Given the description of an element on the screen output the (x, y) to click on. 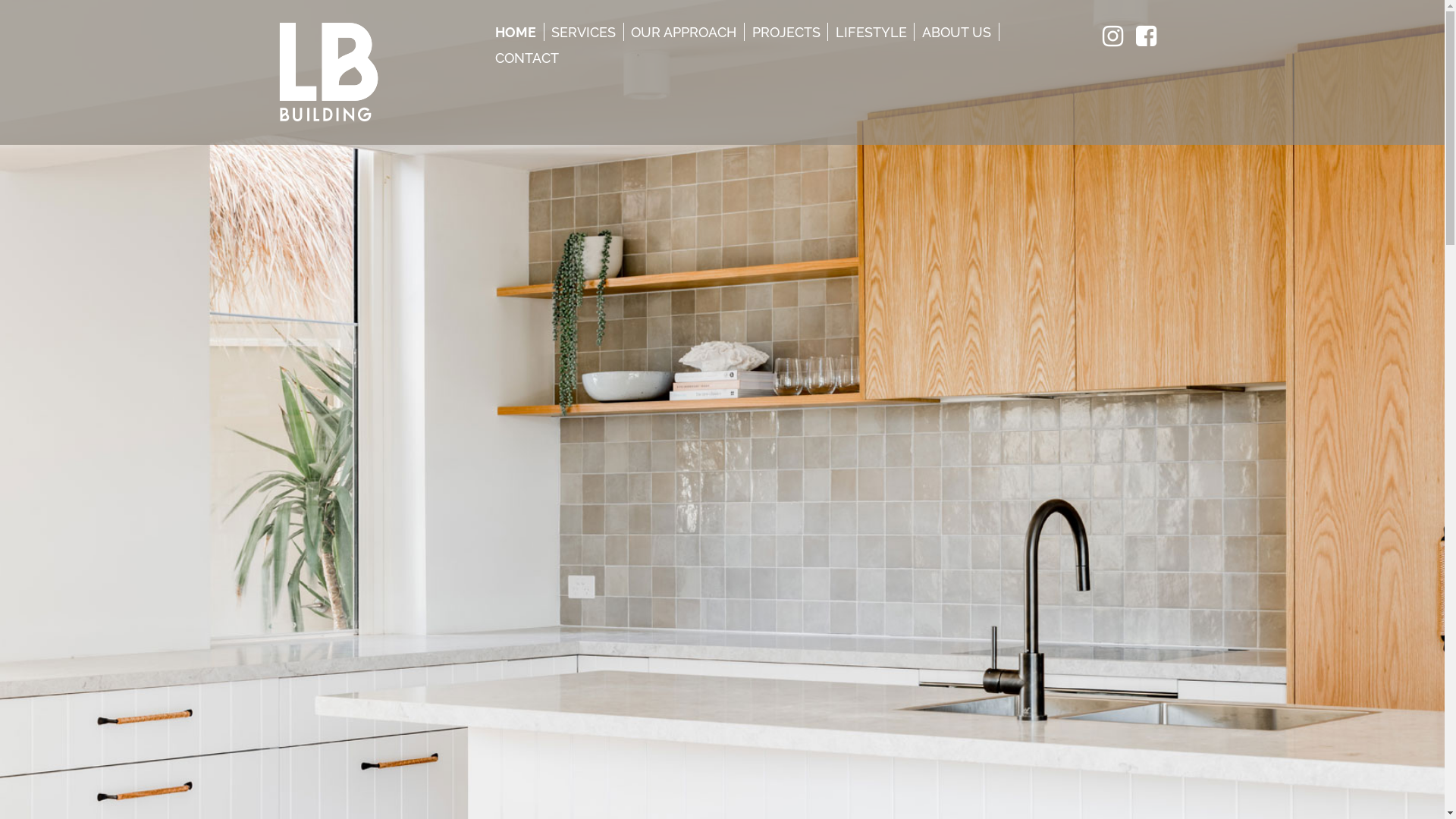
LIFESTYLE Element type: text (871, 31)
HOME Element type: text (516, 31)
CONTACT Element type: text (527, 57)
OUR APPROACH Element type: text (684, 31)
SERVICES Element type: text (584, 31)
ABOUT US Element type: text (956, 31)
PROJECTS Element type: text (786, 31)
